Given the description of an element on the screen output the (x, y) to click on. 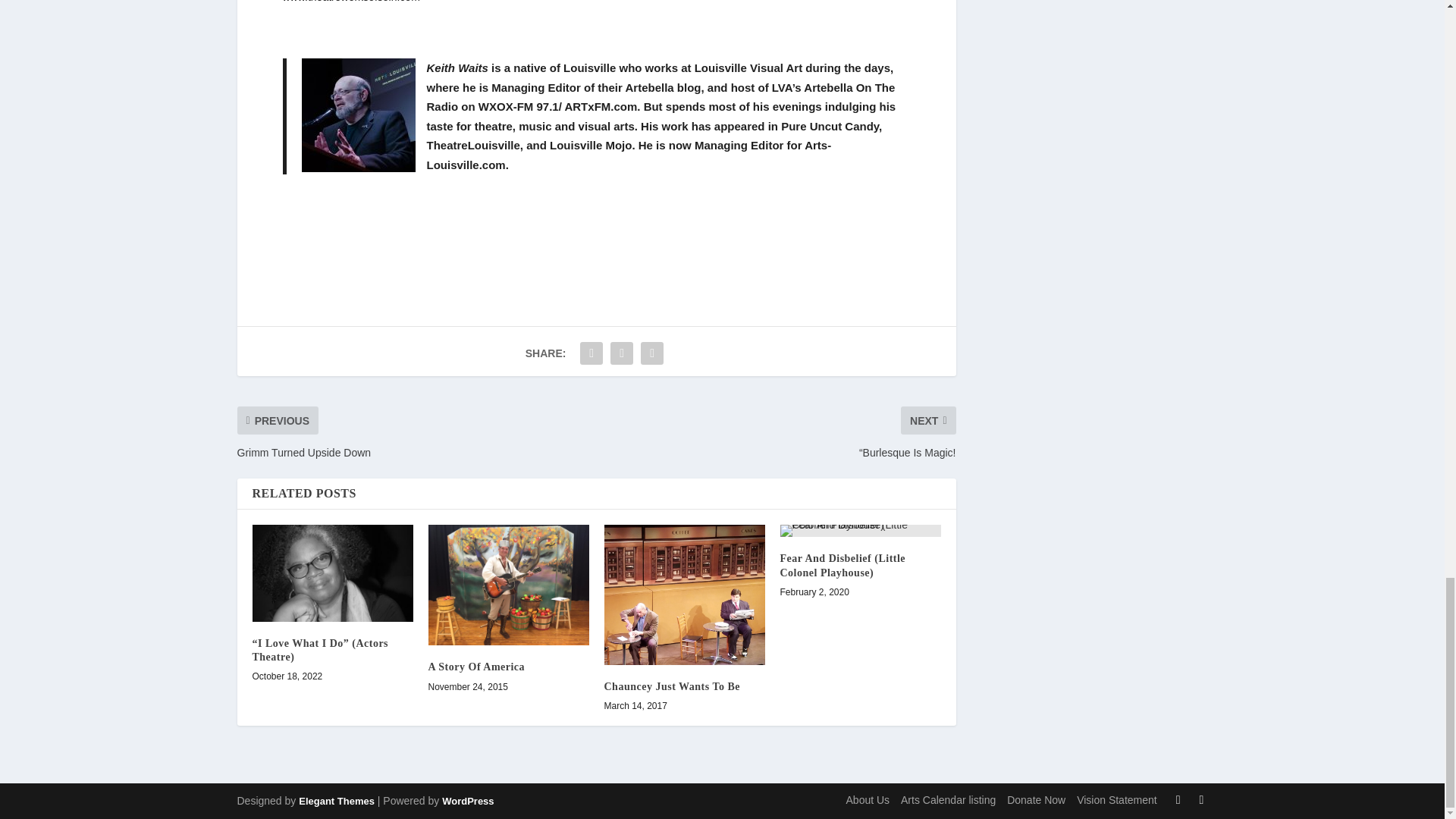
Chauncey Just Wants To Be (684, 594)
Share "The Folly Of Hubris" via Facebook (591, 353)
Share "The Folly Of Hubris" via Twitter (622, 353)
A Story Of America (508, 584)
Share "The Folly Of Hubris" via Email (651, 353)
Premium WordPress Themes (336, 800)
